Given the description of an element on the screen output the (x, y) to click on. 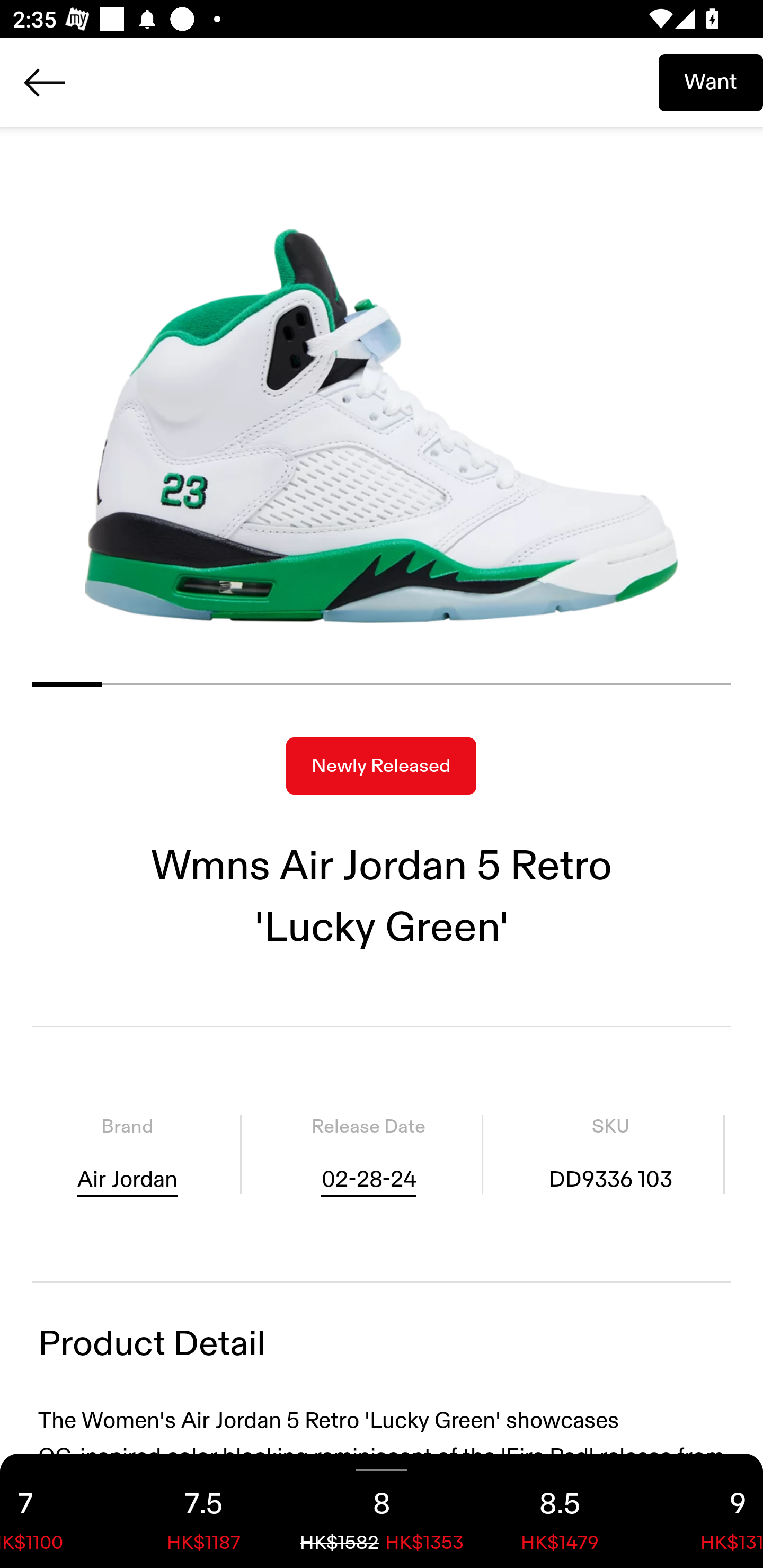
Want (710, 82)
Newly Released (381, 765)
Brand Air Jordan (126, 1153)
Release Date 02-28-24 (368, 1153)
SKU DD9336 103 (609, 1153)
7 HK$1100 (57, 1510)
7.5 HK$1187 (203, 1510)
8 HK$1582 HK$1353 (381, 1510)
8.5 HK$1479 (559, 1510)
9 HK$1313 (705, 1510)
